Given the description of an element on the screen output the (x, y) to click on. 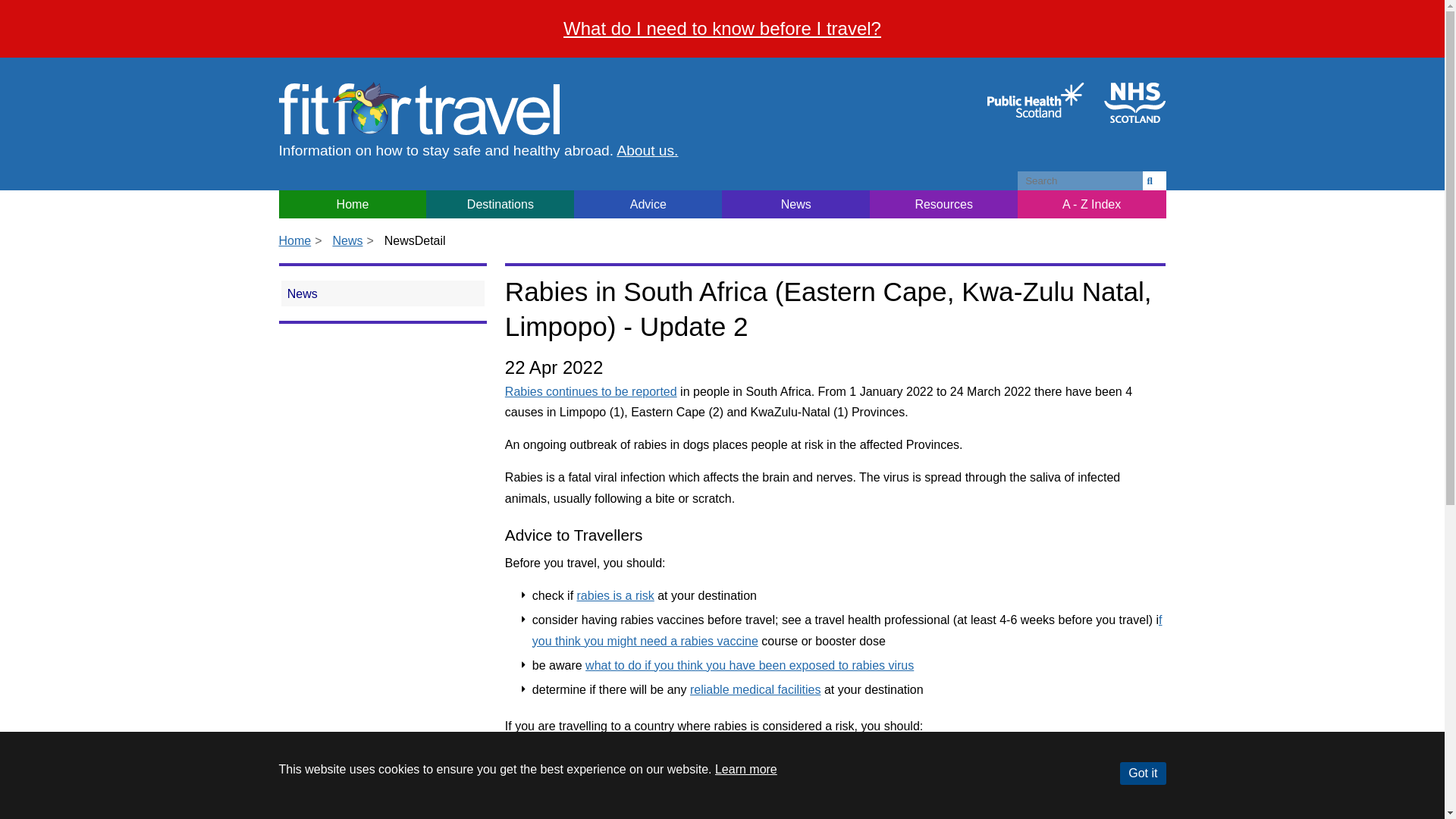
News (795, 204)
Rabies continues to be reported (591, 391)
What do I need to know before I travel? (721, 28)
rabies risk areas map (614, 594)
Resources (943, 204)
Home (295, 240)
A - Z Index (1091, 204)
Destinations (499, 204)
About us. (646, 150)
f you think you might need a rabies vaccine (846, 630)
News (382, 293)
Home (352, 204)
Got it (1142, 773)
News (346, 240)
